Given the description of an element on the screen output the (x, y) to click on. 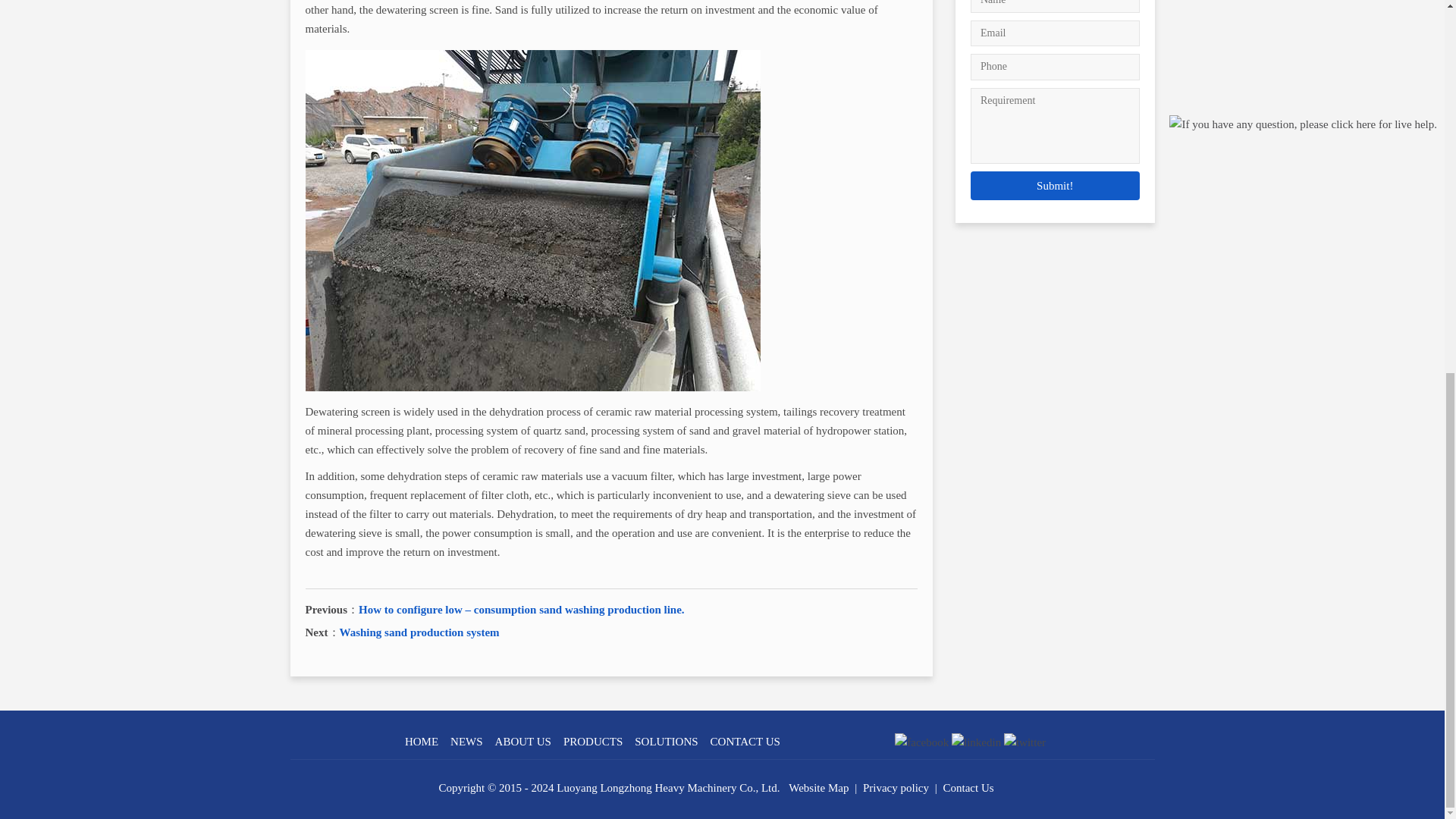
Submit! (1055, 185)
HOME (421, 741)
Submit! (1055, 185)
Washing sand production system (419, 632)
